Given the description of an element on the screen output the (x, y) to click on. 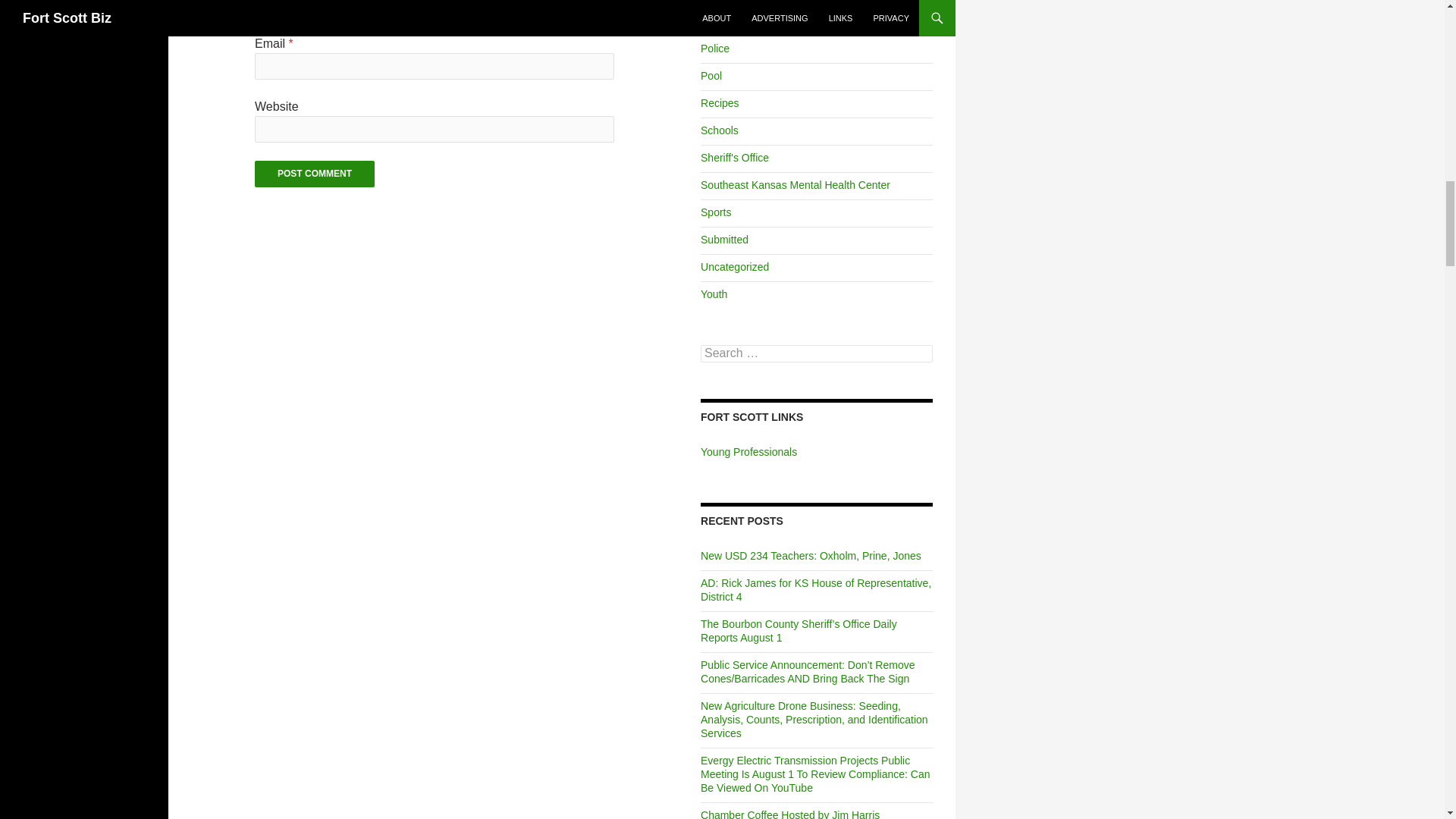
Post Comment (314, 173)
Post Comment (314, 173)
